Given the description of an element on the screen output the (x, y) to click on. 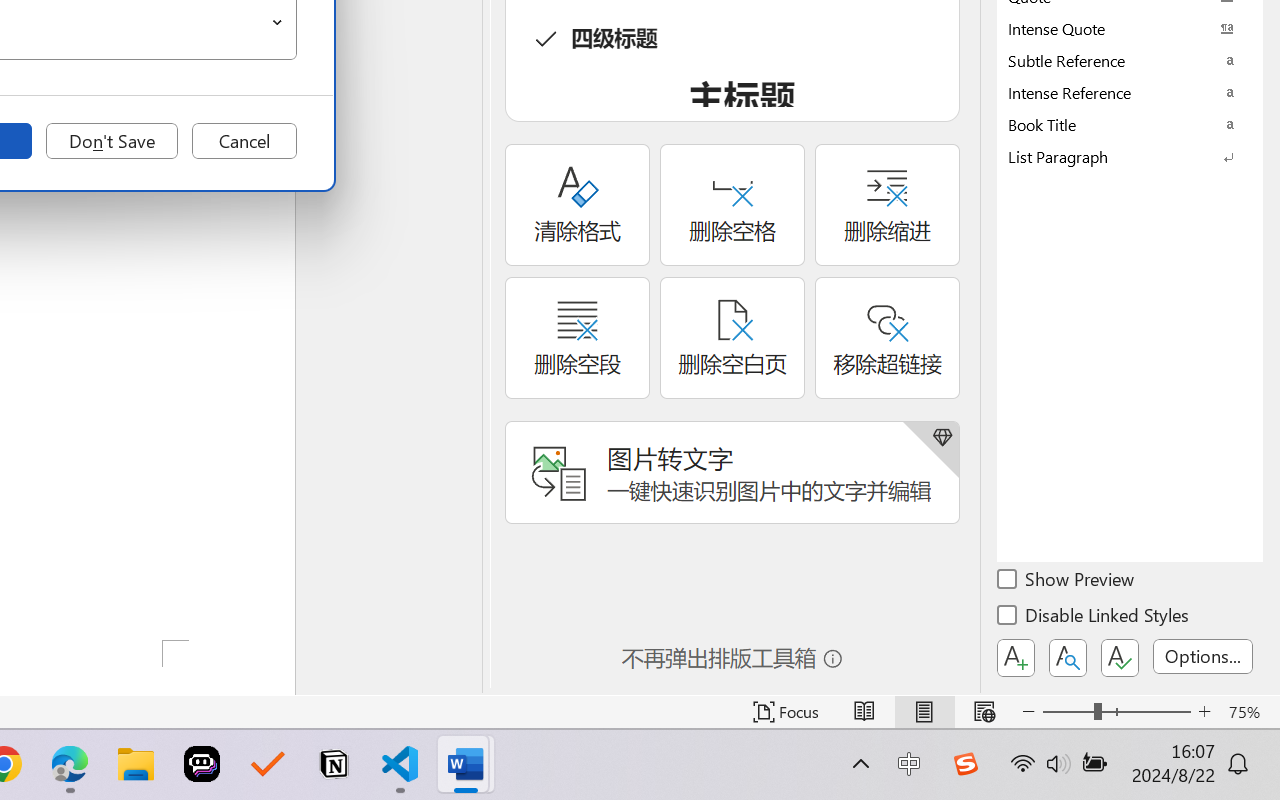
Notion (333, 764)
Intense Reference (1130, 92)
Print Layout (924, 712)
Class: NetUIImage (1116, 156)
Focus  (786, 712)
Options... (1203, 656)
Book Title (1130, 124)
